Given the description of an element on the screen output the (x, y) to click on. 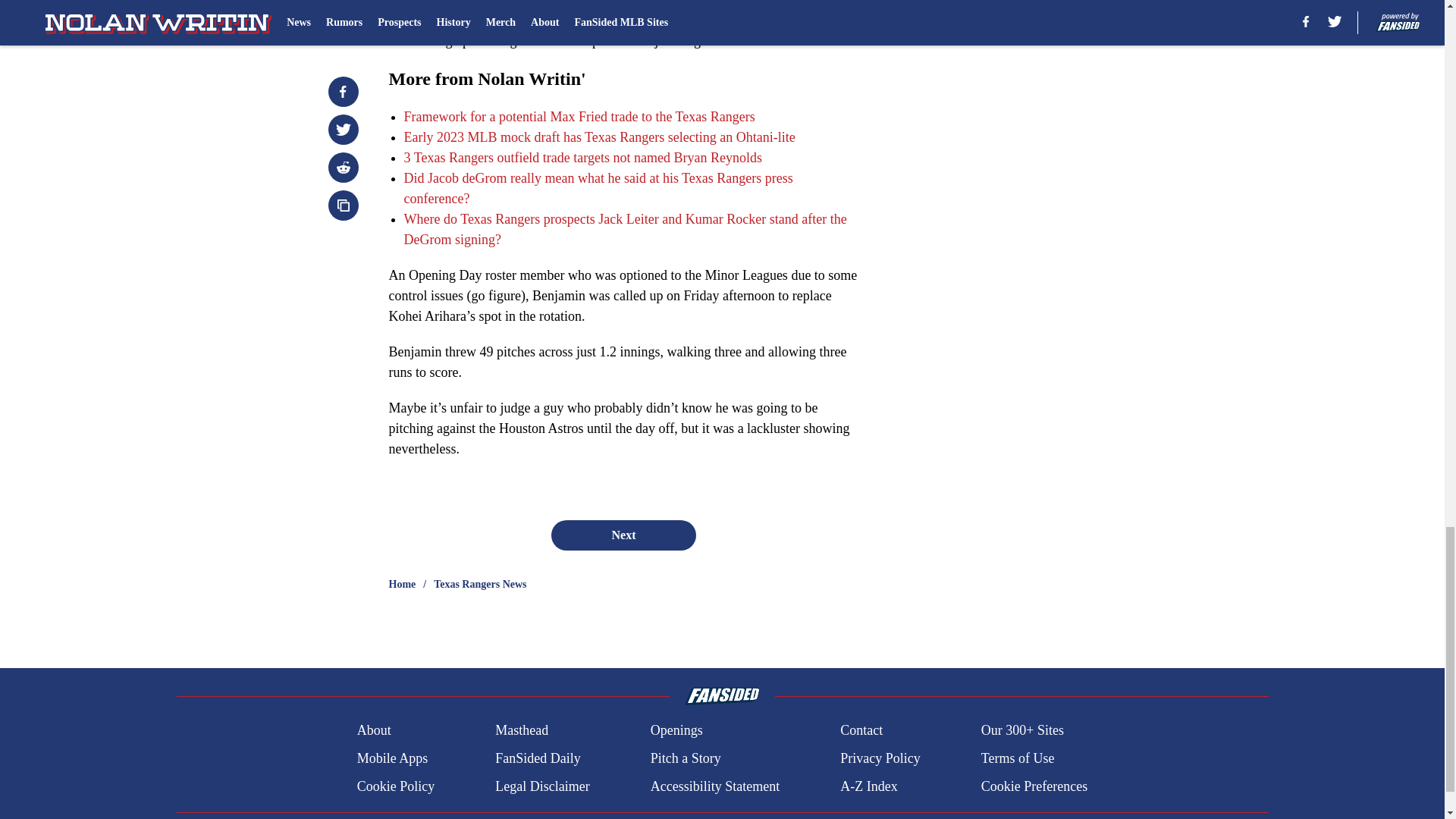
About (373, 730)
Openings (676, 730)
Home (401, 584)
Contact (861, 730)
Masthead (521, 730)
Texas Rangers News (479, 584)
Next (622, 535)
